Given the description of an element on the screen output the (x, y) to click on. 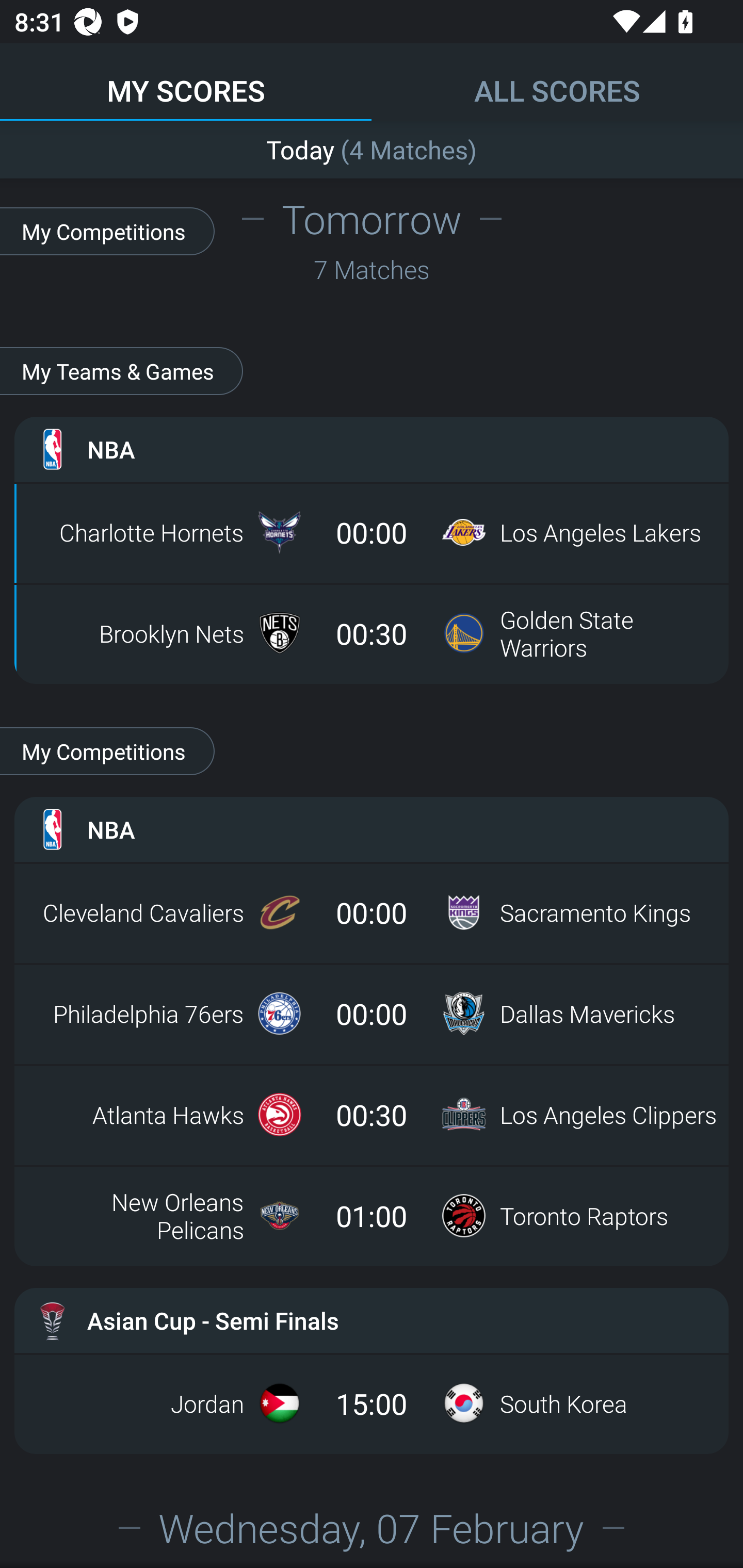
MY SCORES (185, 81)
ALL SCORES (557, 81)
NBA (371, 449)
Charlotte Hornets 00:00 Los Angeles Lakers (371, 532)
Brooklyn Nets 00:30 Golden State Warriors (371, 633)
NBA (371, 829)
Cleveland Cavaliers 00:00 Sacramento Kings (371, 912)
Philadelphia 76ers 00:00 Dallas Mavericks (371, 1013)
Atlanta Hawks 00:30 Los Angeles Clippers (371, 1114)
New Orleans Pelicans 01:00 Toronto Raptors (371, 1215)
Asian Cup - Semi Finals (371, 1320)
Jordan 15:00 South Korea (371, 1403)
